Given the description of an element on the screen output the (x, y) to click on. 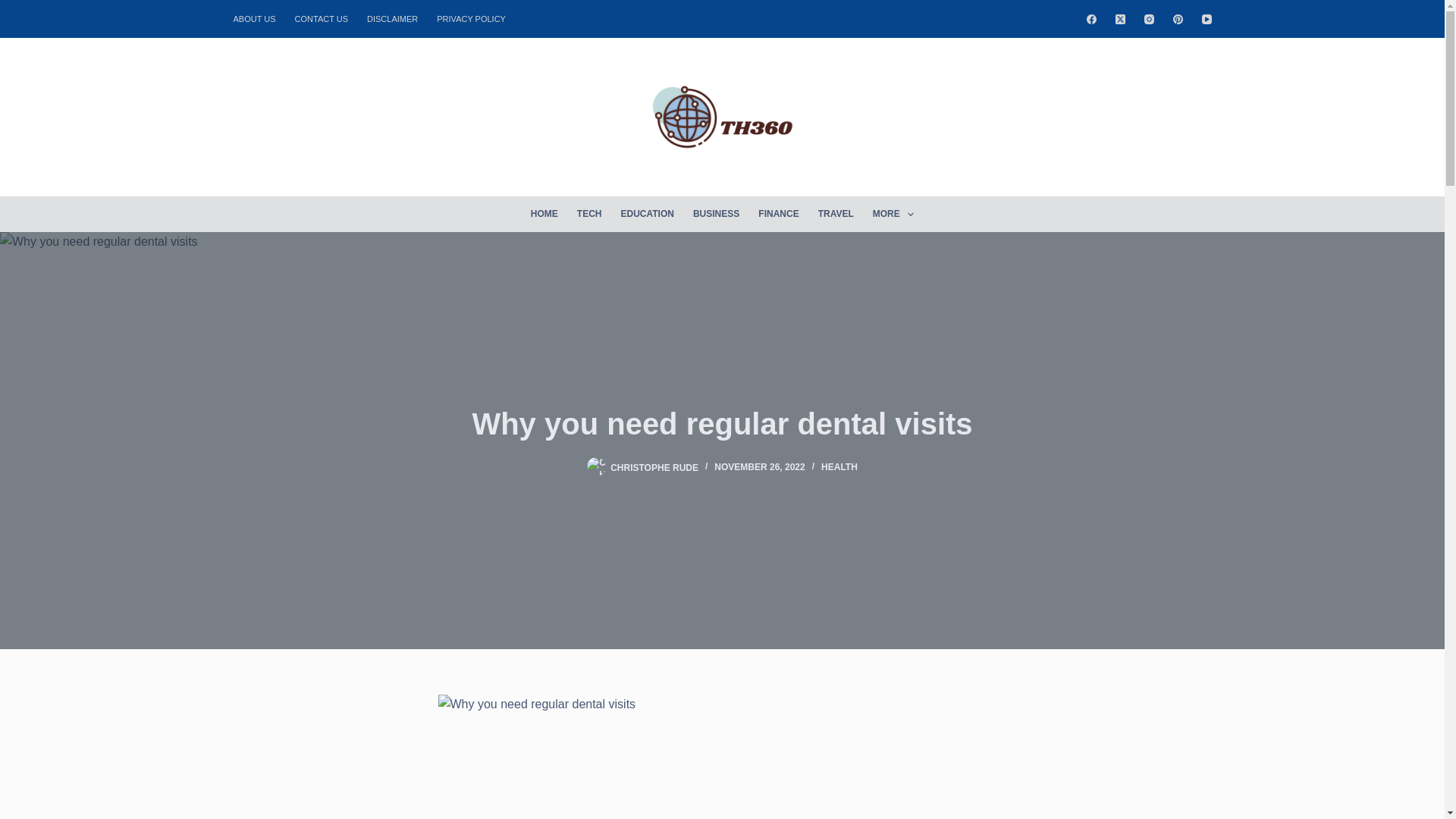
EDUCATION (646, 213)
TECH (589, 213)
MORE (893, 213)
DISCLAIMER (393, 18)
Posts by Christophe Rude (654, 466)
PRIVACY POLICY (471, 18)
Why you need regular dental visits (722, 423)
ABOUT US (258, 18)
TRAVEL (835, 213)
Skip to content (15, 7)
